Given the description of an element on the screen output the (x, y) to click on. 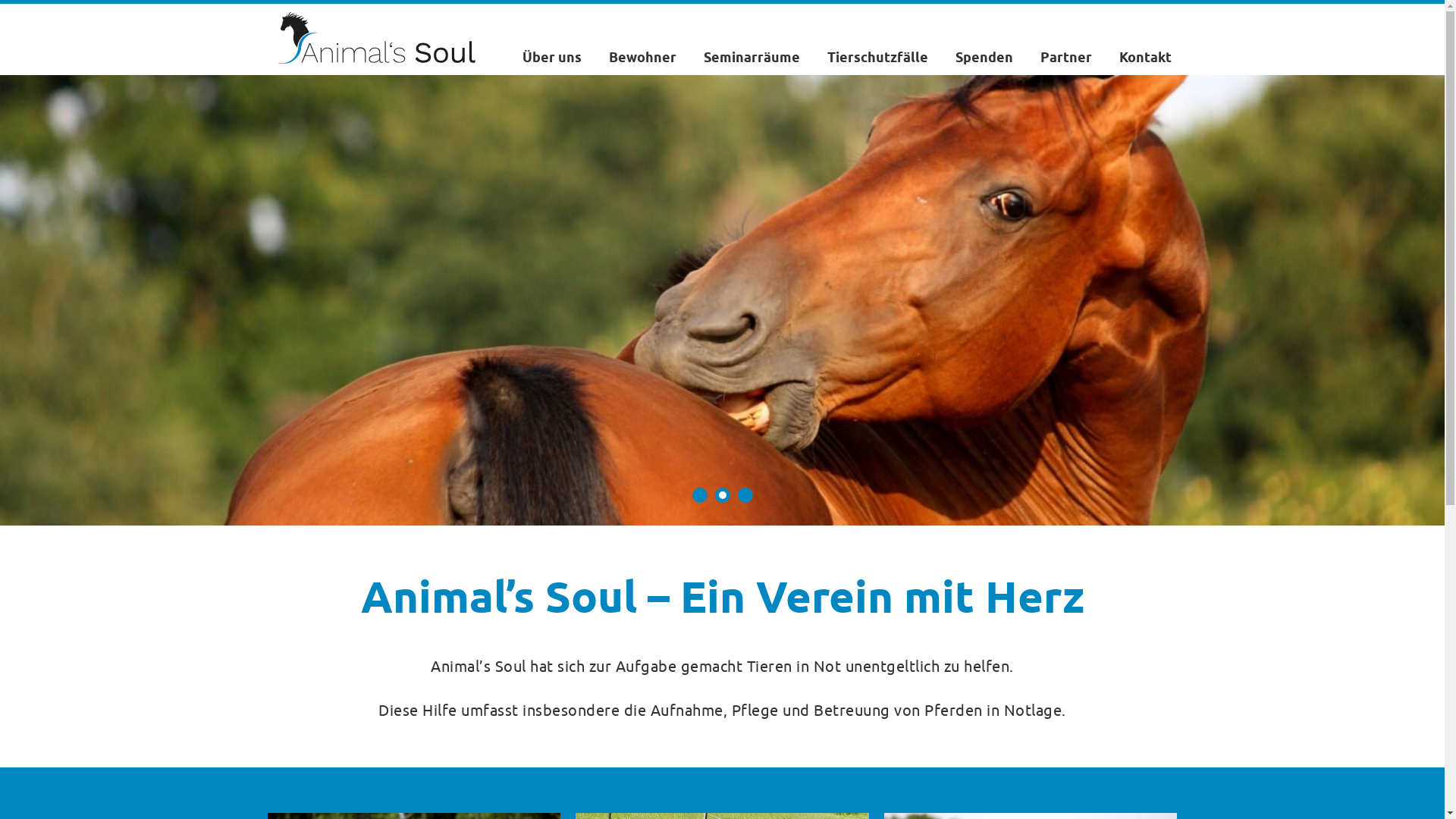
2 Element type: text (721, 494)
1 Element type: text (698, 494)
Partner Element type: text (1066, 57)
Animal's Soul Element type: hover (374, 37)
Bewohner Element type: text (641, 57)
Kontakt Element type: text (1145, 57)
3 Element type: text (744, 494)
Spenden Element type: text (984, 57)
